Given the description of an element on the screen output the (x, y) to click on. 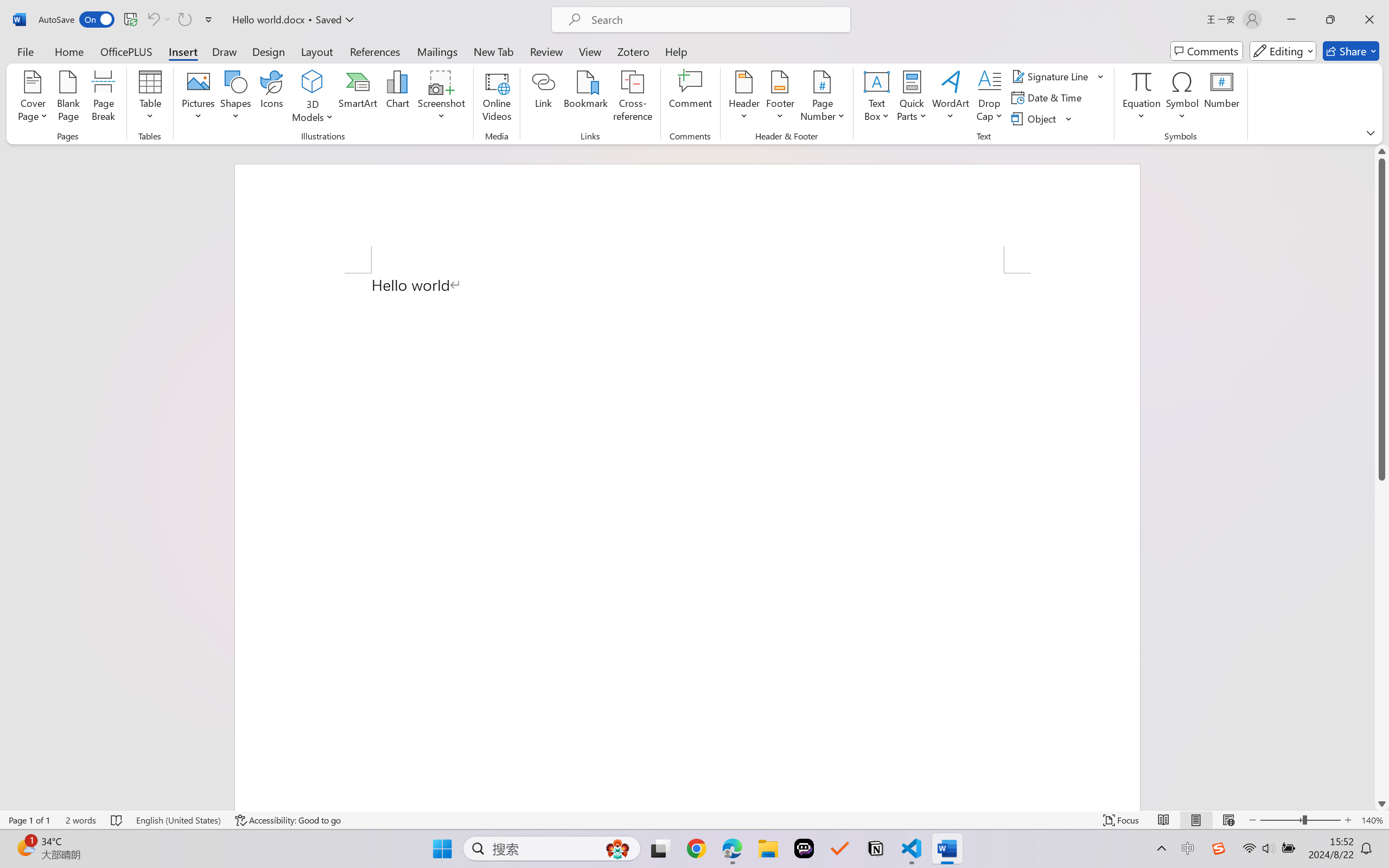
3D Models (312, 81)
References (375, 51)
Focus  (1121, 819)
Share (1350, 51)
Equation (1141, 81)
Microsoft search (715, 19)
Layout (316, 51)
Header (743, 97)
Print Layout (1196, 819)
WordArt (950, 97)
Number... (1221, 97)
Class: NetUIScrollBar (1382, 477)
Design (268, 51)
